Given the description of an element on the screen output the (x, y) to click on. 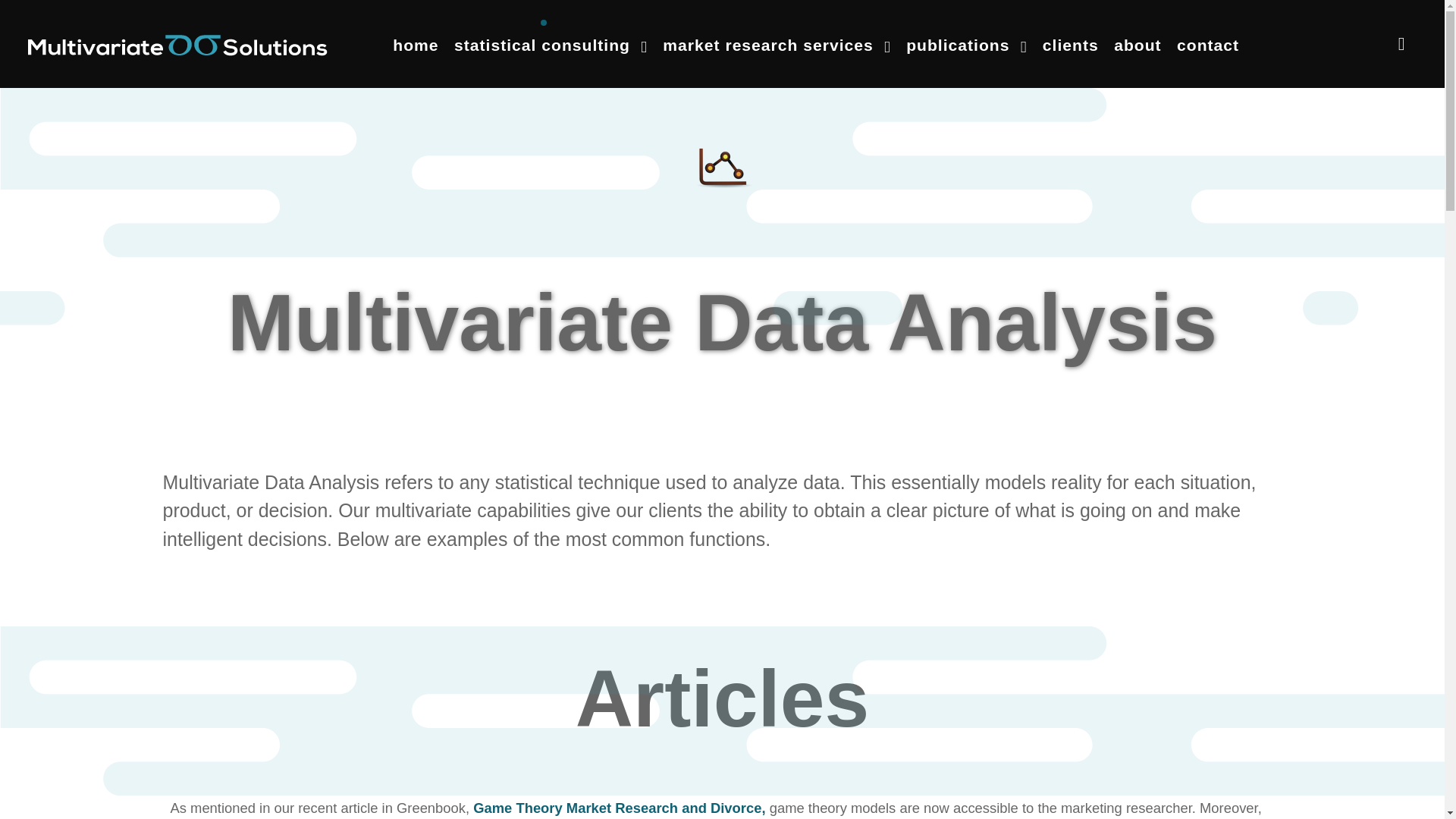
publications (965, 43)
home (415, 43)
aurora (177, 43)
clients (1070, 43)
about (1137, 43)
market research services (776, 43)
contact (1207, 43)
statistical consulting (550, 43)
